Given the description of an element on the screen output the (x, y) to click on. 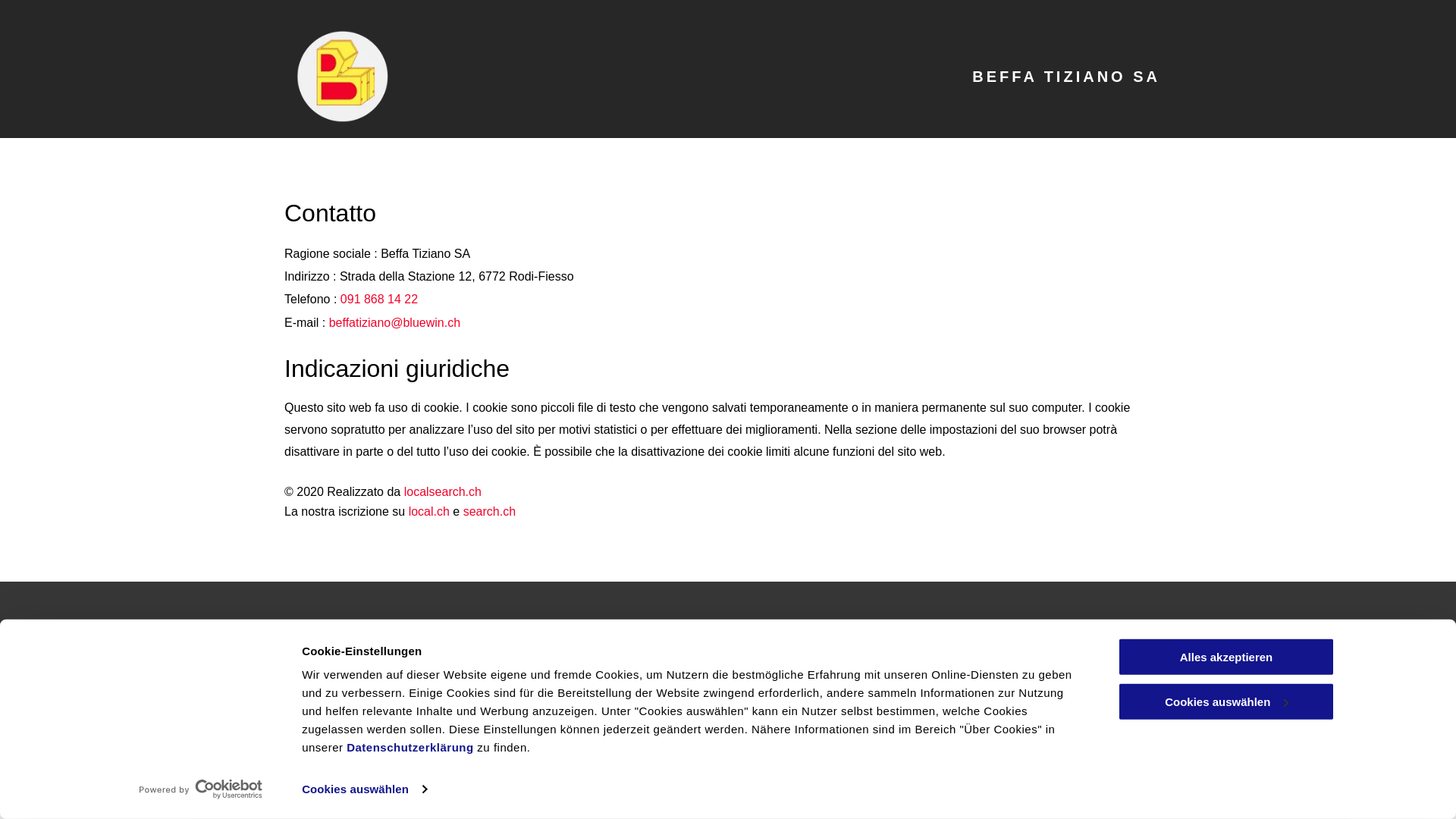
091 868 14 22 Element type: text (378, 298)
localsearch.ch Element type: text (442, 491)
Alles akzeptieren Element type: text (1225, 656)
local.ch Element type: text (428, 511)
Informativa sulla protezione dei dati Element type: text (379, 762)
search.ch Element type: text (489, 511)
beffatiziano@bluewin.ch Element type: text (394, 322)
Note legali Element type: text (760, 641)
beffatiziano@bluewin.ch Element type: text (566, 670)
BEFFA TIZIANO SA Element type: text (1066, 76)
091 868 14 22 Element type: text (546, 641)
